Given the description of an element on the screen output the (x, y) to click on. 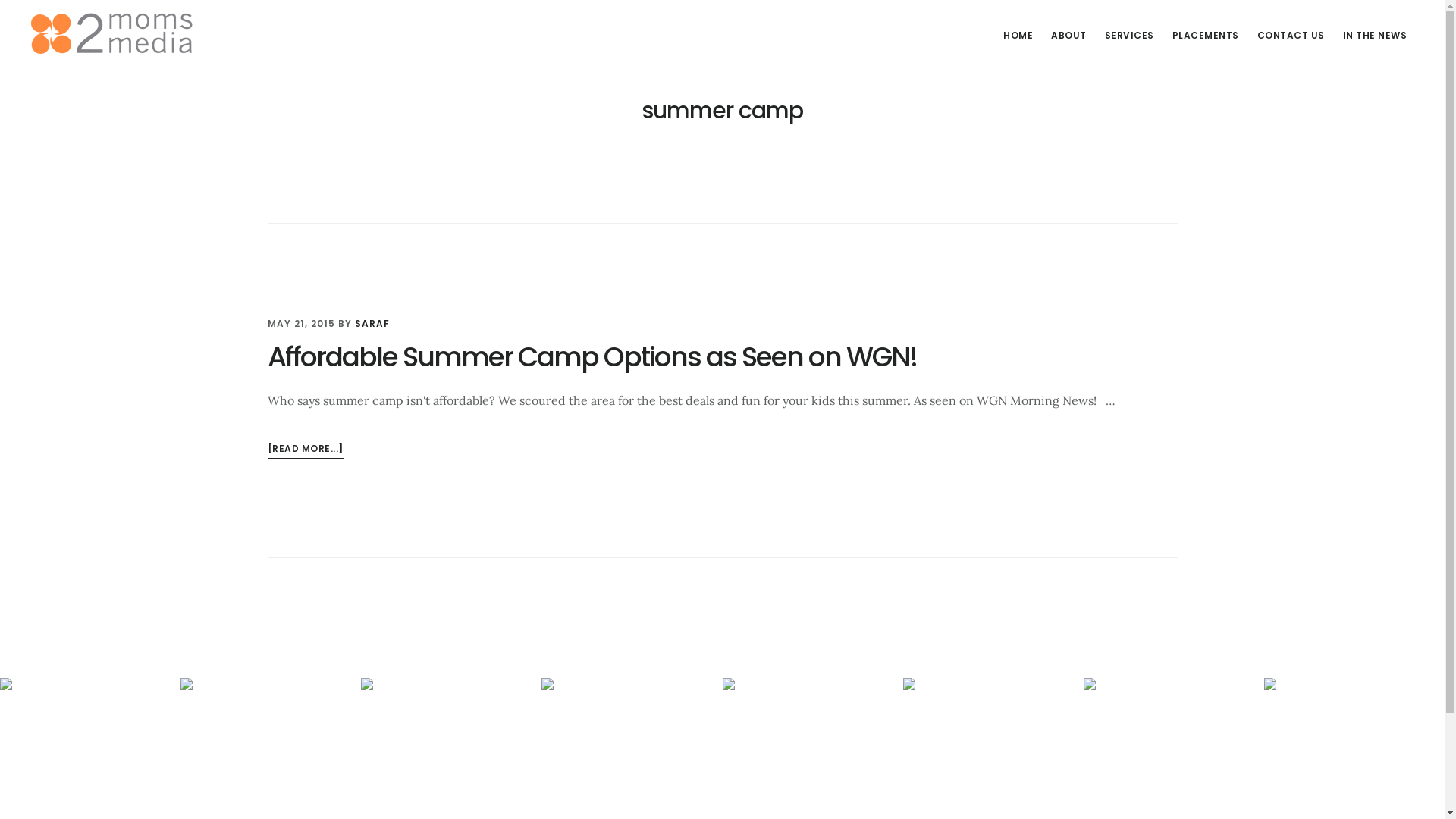
HOME Element type: text (1017, 35)
Affordable Summer Camp Options as Seen on WGN! Element type: text (591, 356)
ABOUT Element type: text (1068, 35)
PLACEMENTS Element type: text (1205, 35)
Skip to main content Element type: text (0, 0)
SERVICES Element type: text (1128, 35)
IN THE NEWS Element type: text (1374, 35)
2 MOMS MEDIA Element type: text (143, 32)
SARAF Element type: text (371, 322)
CONTACT US Element type: text (1290, 35)
